Given the description of an element on the screen output the (x, y) to click on. 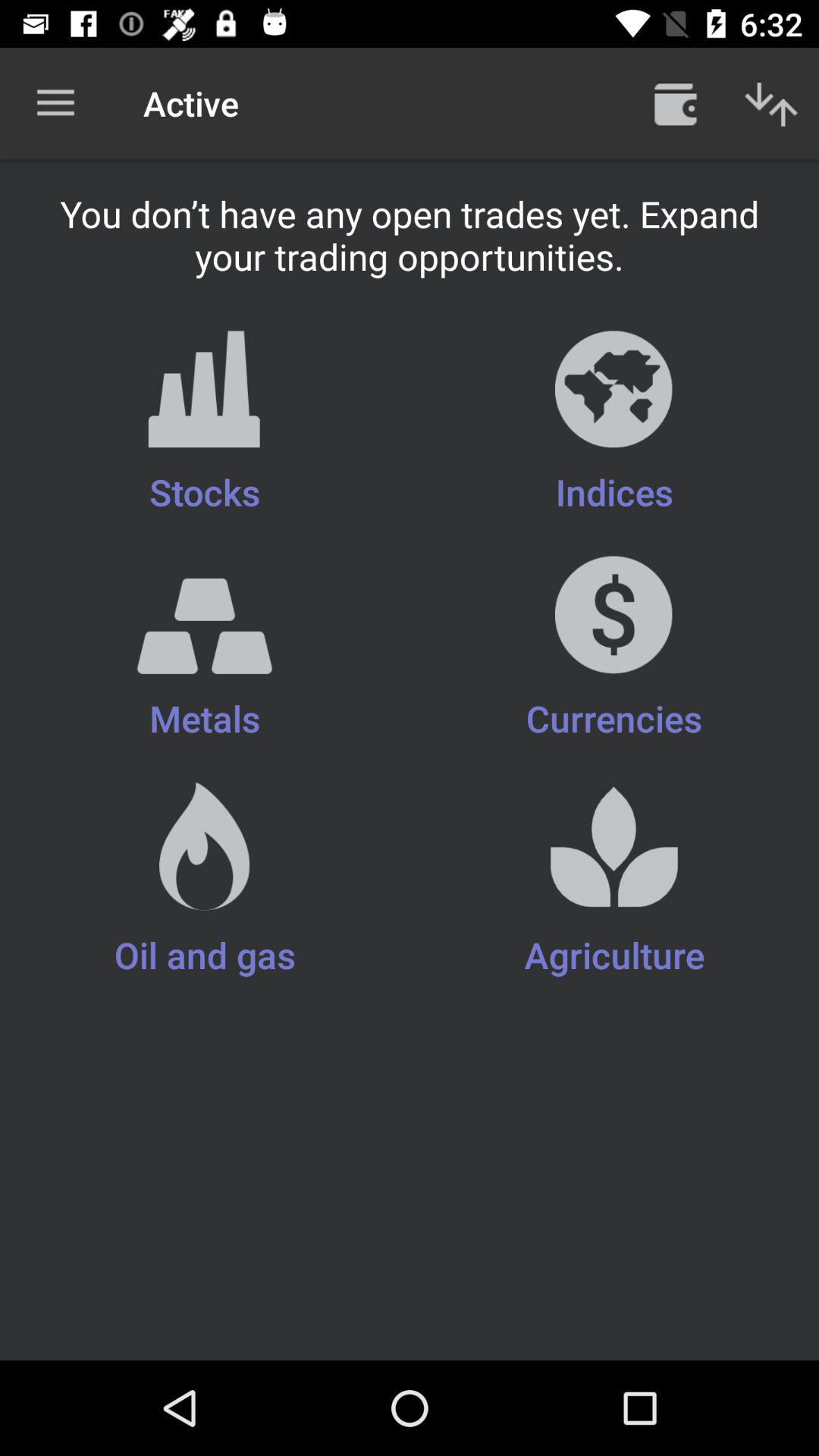
press the icon below you don t (204, 423)
